Given the description of an element on the screen output the (x, y) to click on. 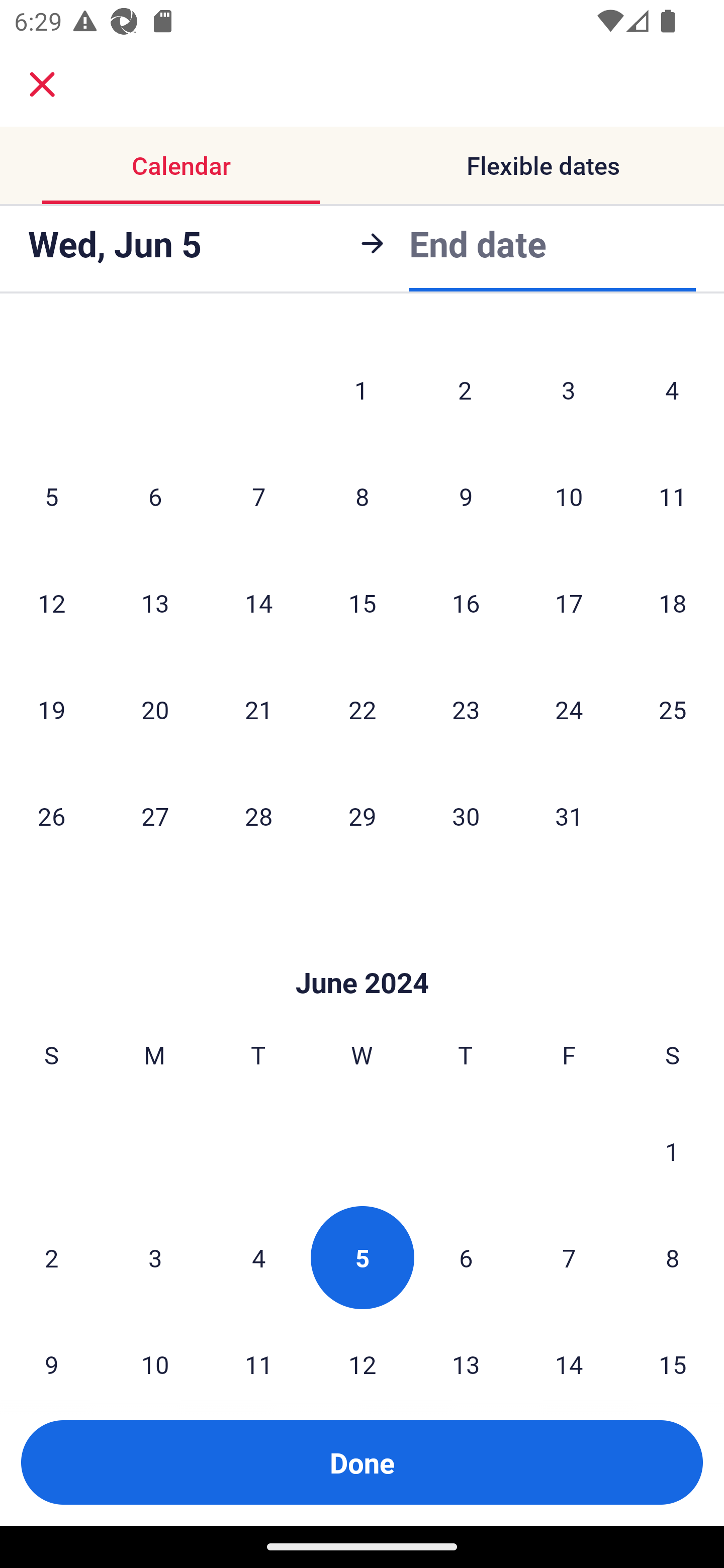
close. (42, 84)
Flexible dates (542, 164)
End date (477, 243)
1 Wednesday, May 1, 2024 (361, 389)
2 Thursday, May 2, 2024 (464, 389)
3 Friday, May 3, 2024 (568, 389)
4 Saturday, May 4, 2024 (672, 389)
5 Sunday, May 5, 2024 (51, 496)
6 Monday, May 6, 2024 (155, 496)
7 Tuesday, May 7, 2024 (258, 496)
8 Wednesday, May 8, 2024 (362, 496)
9 Thursday, May 9, 2024 (465, 496)
10 Friday, May 10, 2024 (569, 496)
11 Saturday, May 11, 2024 (672, 496)
12 Sunday, May 12, 2024 (51, 602)
13 Monday, May 13, 2024 (155, 602)
14 Tuesday, May 14, 2024 (258, 602)
15 Wednesday, May 15, 2024 (362, 602)
16 Thursday, May 16, 2024 (465, 602)
17 Friday, May 17, 2024 (569, 602)
18 Saturday, May 18, 2024 (672, 602)
19 Sunday, May 19, 2024 (51, 709)
20 Monday, May 20, 2024 (155, 709)
21 Tuesday, May 21, 2024 (258, 709)
22 Wednesday, May 22, 2024 (362, 709)
23 Thursday, May 23, 2024 (465, 709)
24 Friday, May 24, 2024 (569, 709)
25 Saturday, May 25, 2024 (672, 709)
26 Sunday, May 26, 2024 (51, 816)
27 Monday, May 27, 2024 (155, 816)
28 Tuesday, May 28, 2024 (258, 816)
29 Wednesday, May 29, 2024 (362, 816)
30 Thursday, May 30, 2024 (465, 816)
31 Friday, May 31, 2024 (569, 816)
Skip to Done (362, 953)
1 Saturday, June 1, 2024 (672, 1150)
2 Sunday, June 2, 2024 (51, 1257)
3 Monday, June 3, 2024 (155, 1257)
4 Tuesday, June 4, 2024 (258, 1257)
6 Thursday, June 6, 2024 (465, 1257)
7 Friday, June 7, 2024 (569, 1257)
8 Saturday, June 8, 2024 (672, 1257)
9 Sunday, June 9, 2024 (51, 1345)
10 Monday, June 10, 2024 (155, 1345)
11 Tuesday, June 11, 2024 (258, 1345)
12 Wednesday, June 12, 2024 (362, 1345)
13 Thursday, June 13, 2024 (465, 1345)
14 Friday, June 14, 2024 (569, 1345)
15 Saturday, June 15, 2024 (672, 1345)
Done (361, 1462)
